Given the description of an element on the screen output the (x, y) to click on. 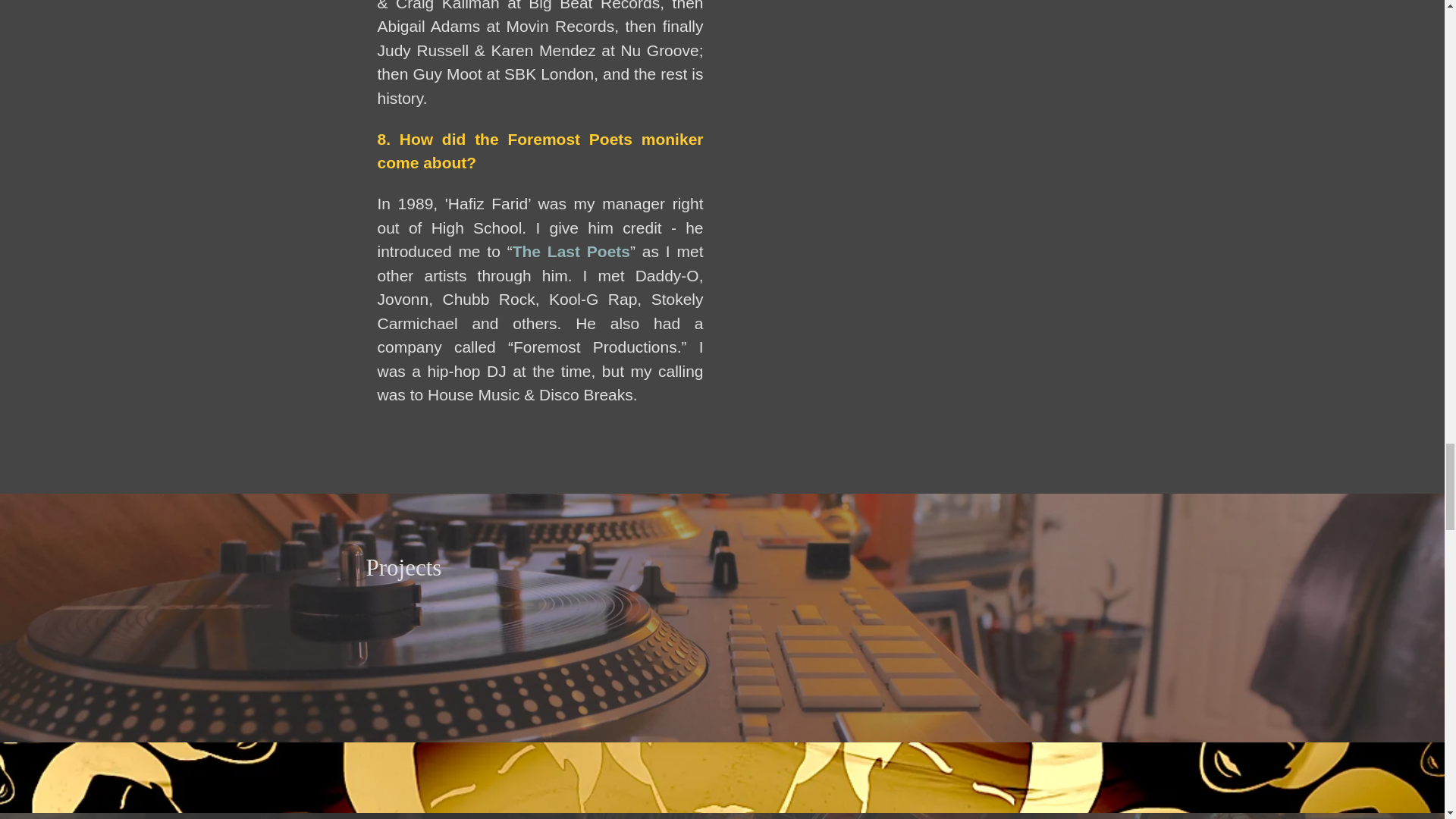
The Last Poets (571, 252)
